Given the description of an element on the screen output the (x, y) to click on. 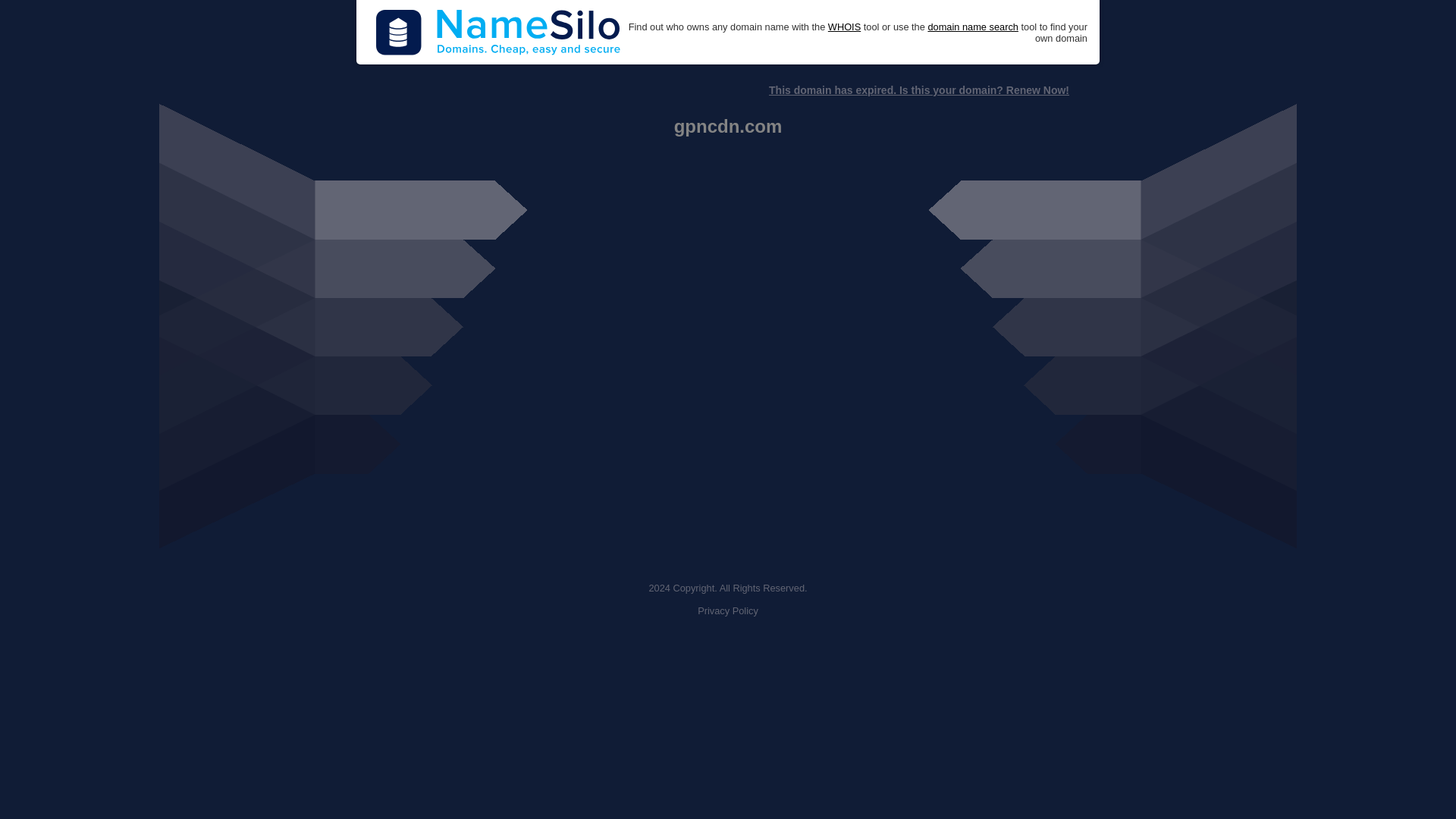
This domain has expired. Is this your domain? Renew Now! (918, 90)
WHOIS (844, 26)
domain name search (972, 26)
Privacy Policy (727, 610)
